Given the description of an element on the screen output the (x, y) to click on. 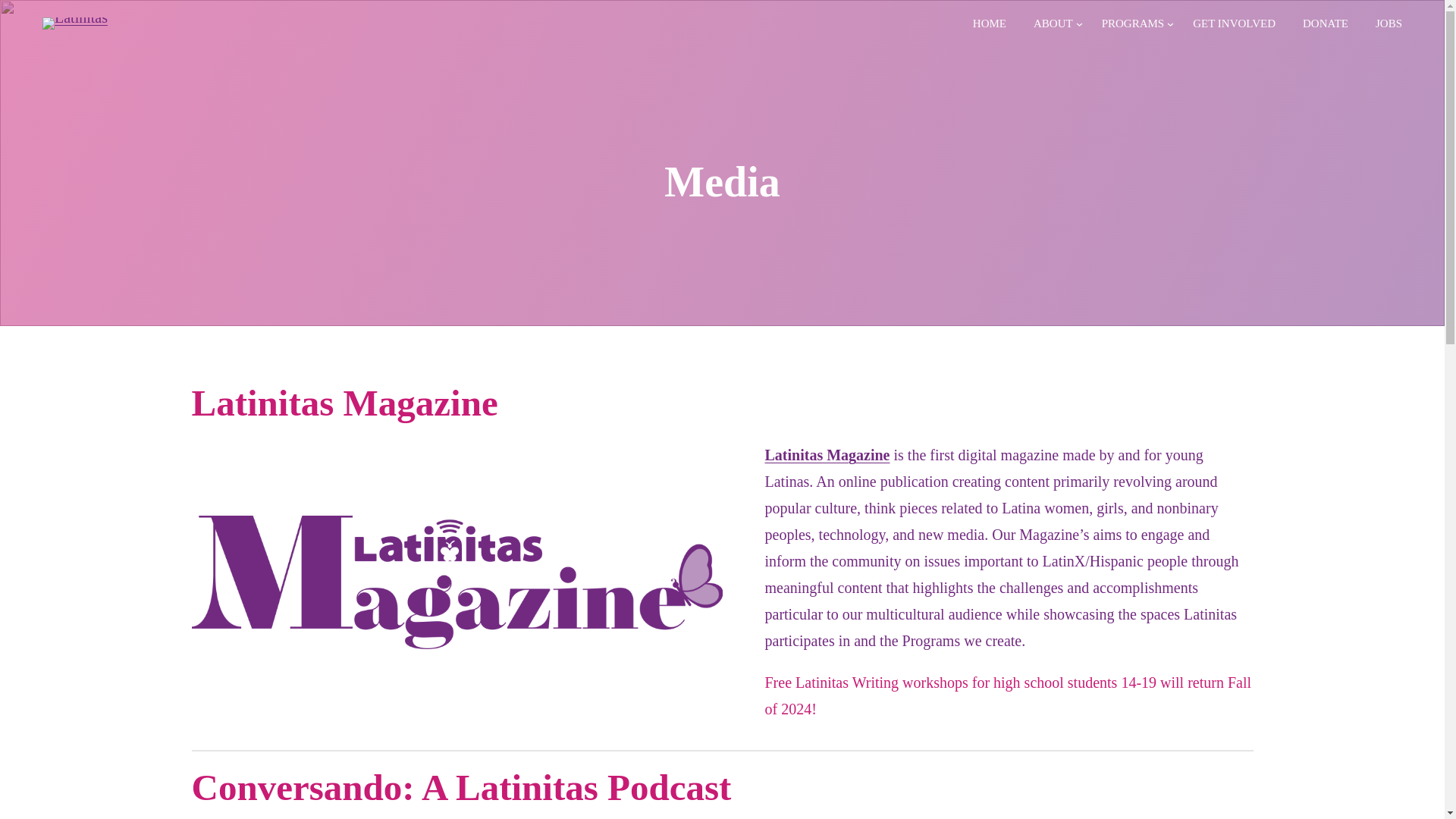
HOME (989, 23)
DONATE (1324, 23)
Latinitas Magazine (826, 454)
JOBS (1381, 23)
GET INVOLVED (1233, 23)
ABOUT (1053, 23)
PROGRAMS (1132, 23)
